Given the description of an element on the screen output the (x, y) to click on. 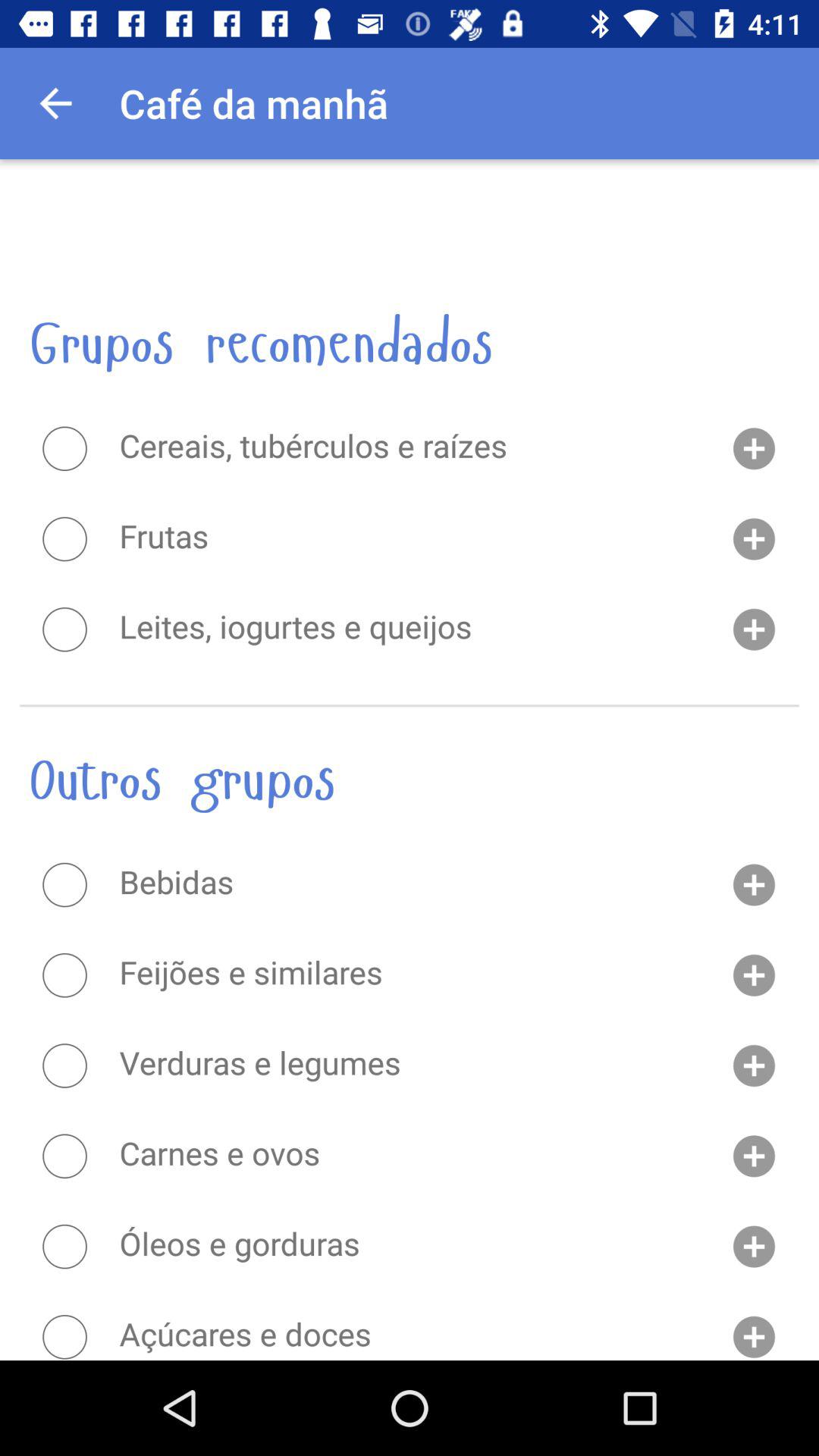
select an option from the list outros grupos (64, 1336)
